Given the description of an element on the screen output the (x, y) to click on. 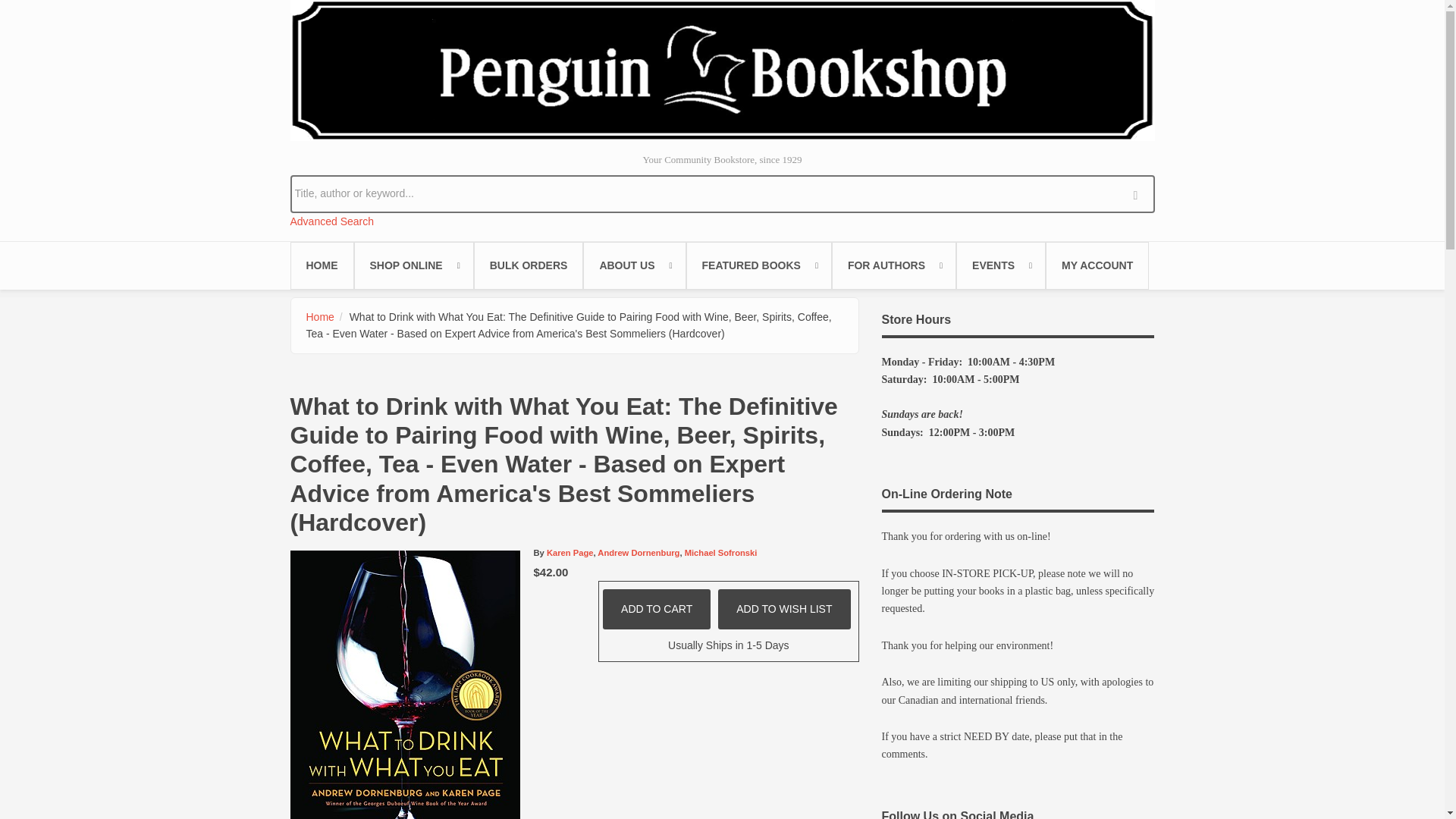
EVENTS (1000, 265)
FOR AUTHORS (893, 265)
Title, author or keyword... (721, 193)
Michael Sofronski (720, 552)
Karen Page (570, 552)
Self-published author information (893, 265)
BULK ORDERS (528, 265)
SHOP ONLINE (413, 265)
FEATURED BOOKS (758, 265)
Add to Cart (656, 608)
